Given the description of an element on the screen output the (x, y) to click on. 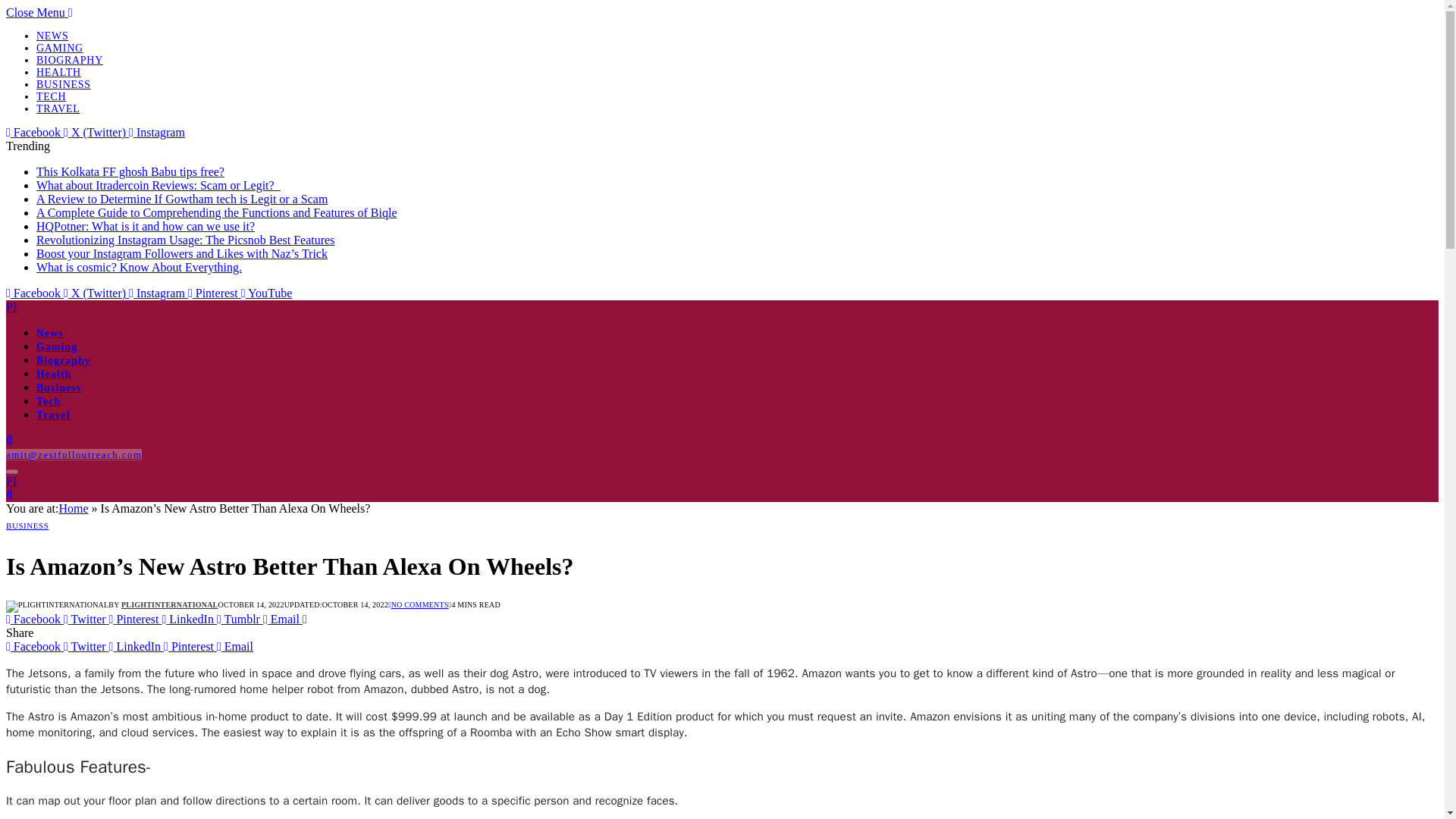
Gaming (56, 346)
Share on LinkedIn (188, 618)
Facebook (34, 292)
What about Itradercoin Reviews: Scam or Legit?   (158, 185)
BIOGRAPHY (69, 60)
GAMING (59, 48)
Facebook (34, 132)
PLIGHTINTERNATIONAL (169, 604)
BUSINESS (63, 84)
Share on Facebook (34, 618)
Pinterest (214, 292)
Twitter (86, 645)
Posts by plightinternational (169, 604)
Instagram (158, 292)
Close Menu (38, 11)
